Given the description of an element on the screen output the (x, y) to click on. 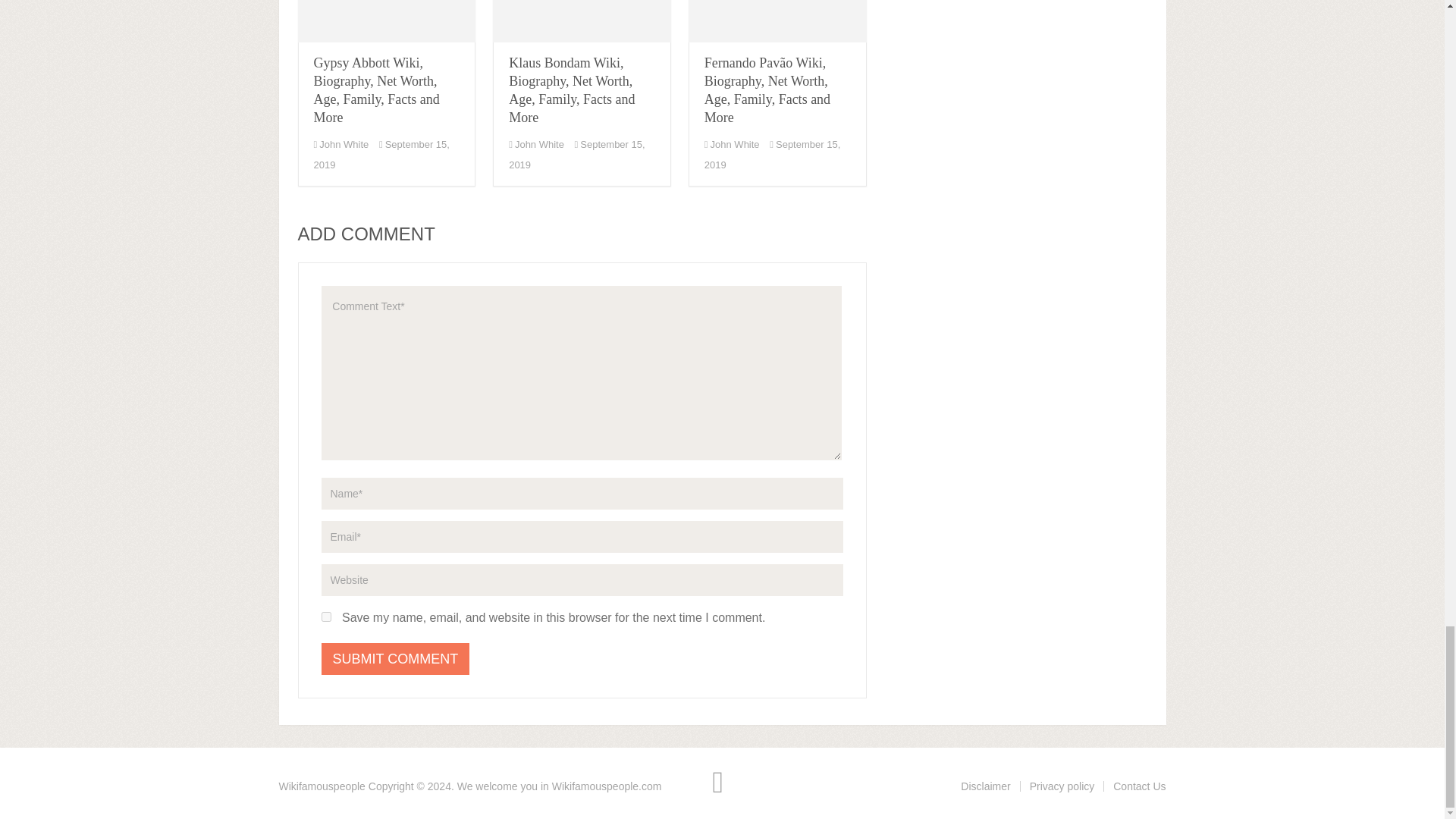
Submit Comment (395, 658)
Posts by John White (343, 143)
yes (326, 616)
